Given the description of an element on the screen output the (x, y) to click on. 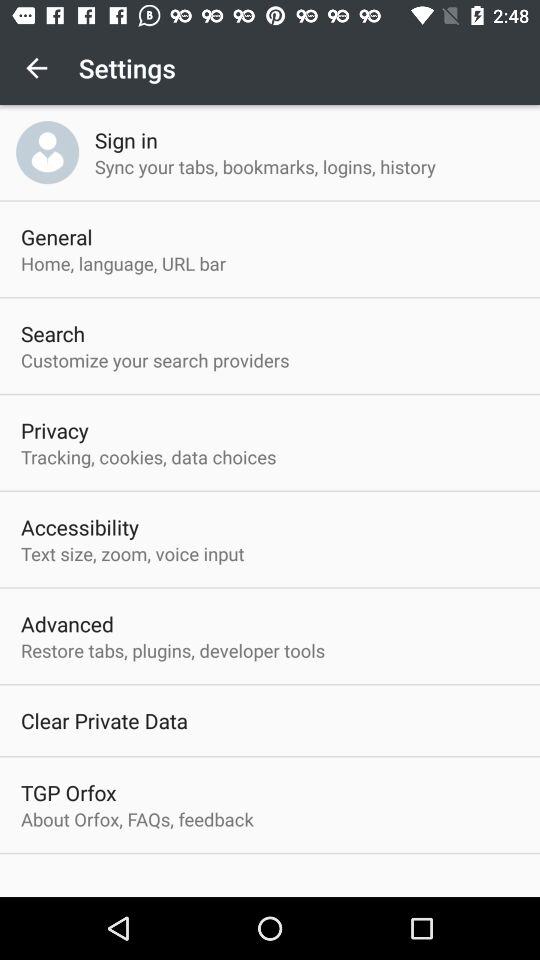
jump until tgp orfox (68, 792)
